Given the description of an element on the screen output the (x, y) to click on. 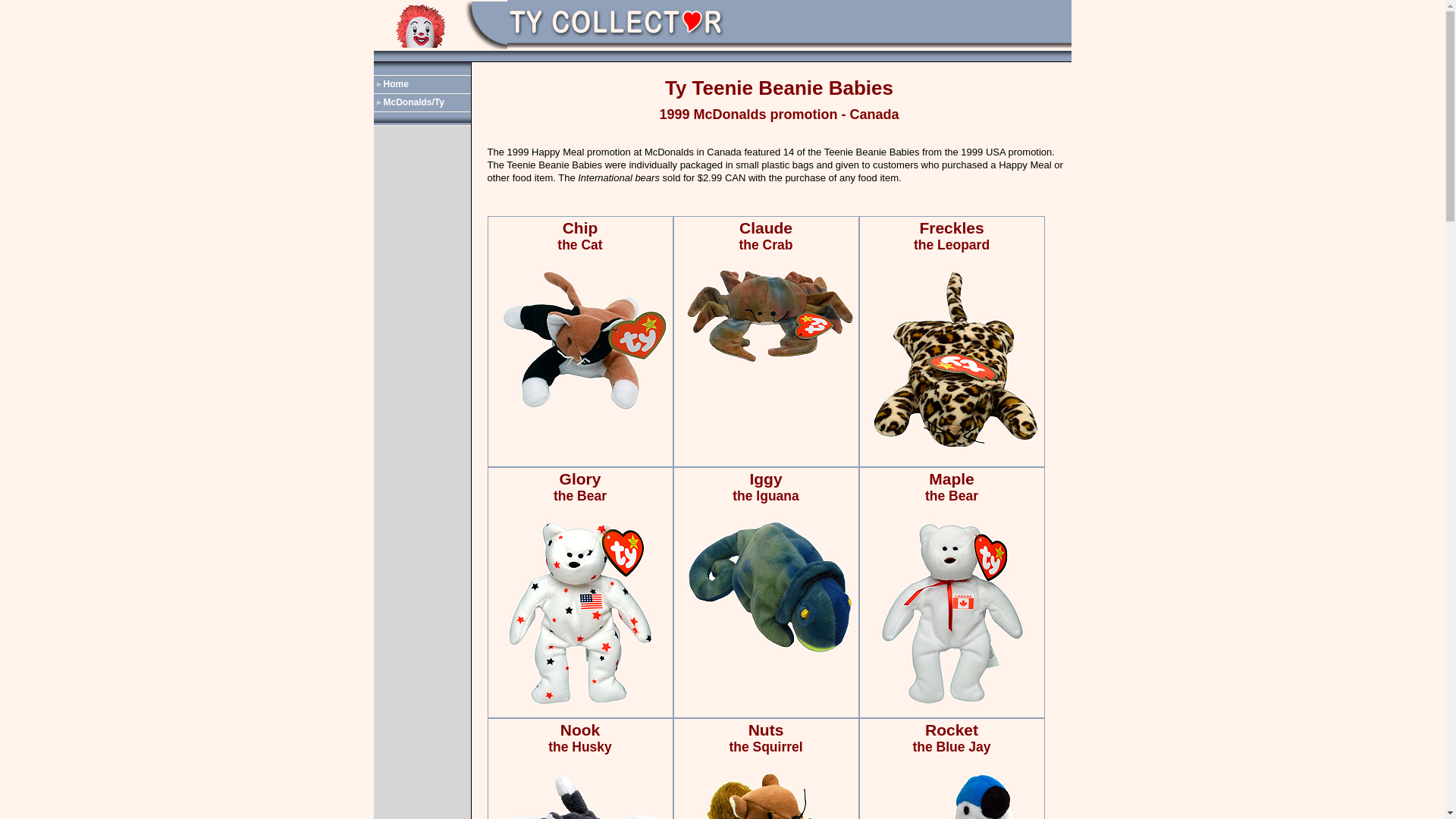
Home (421, 84)
